Given the description of an element on the screen output the (x, y) to click on. 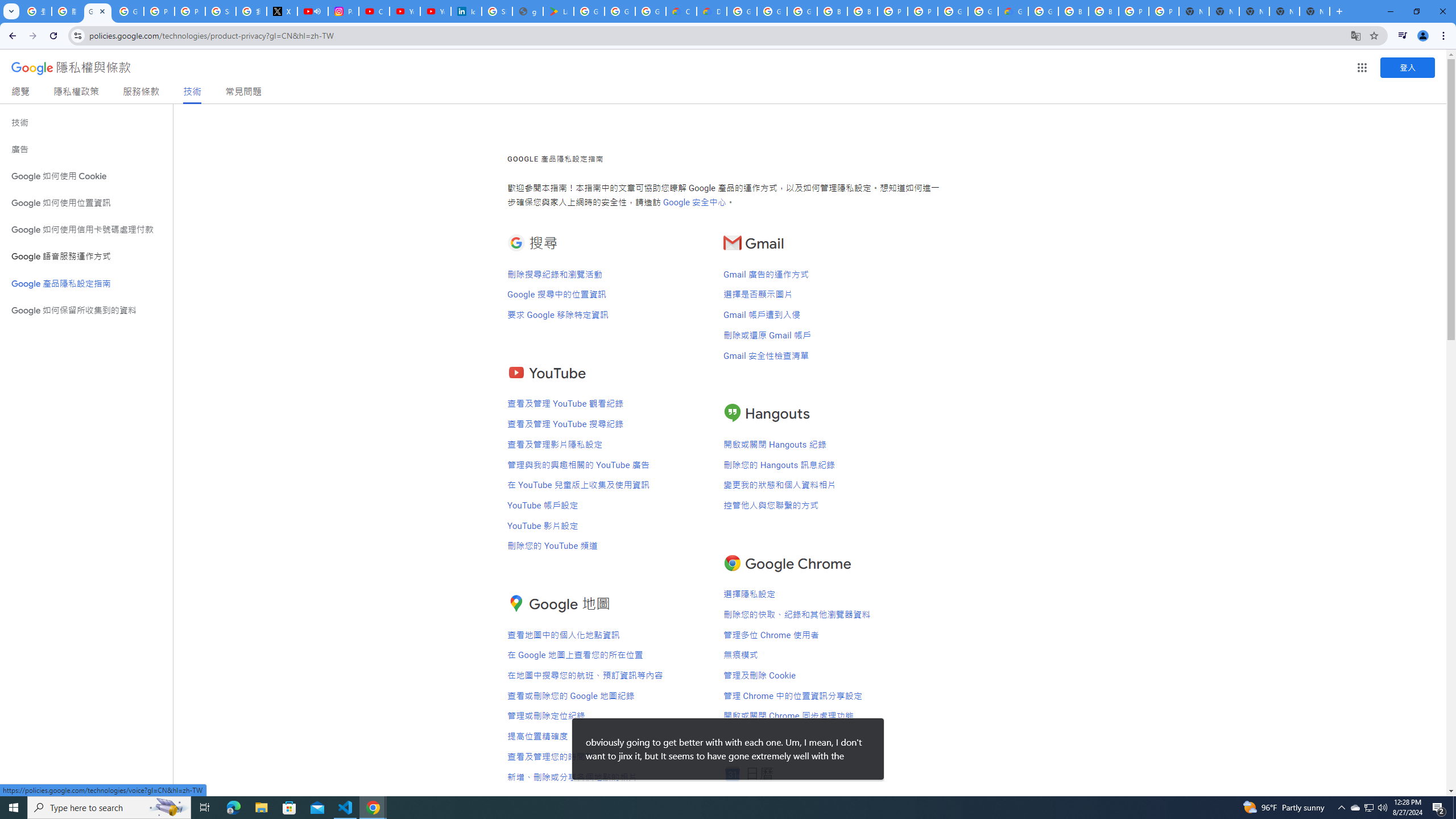
Google Cloud Estimate Summary (1012, 11)
New Tab (1314, 11)
